Given the description of an element on the screen output the (x, y) to click on. 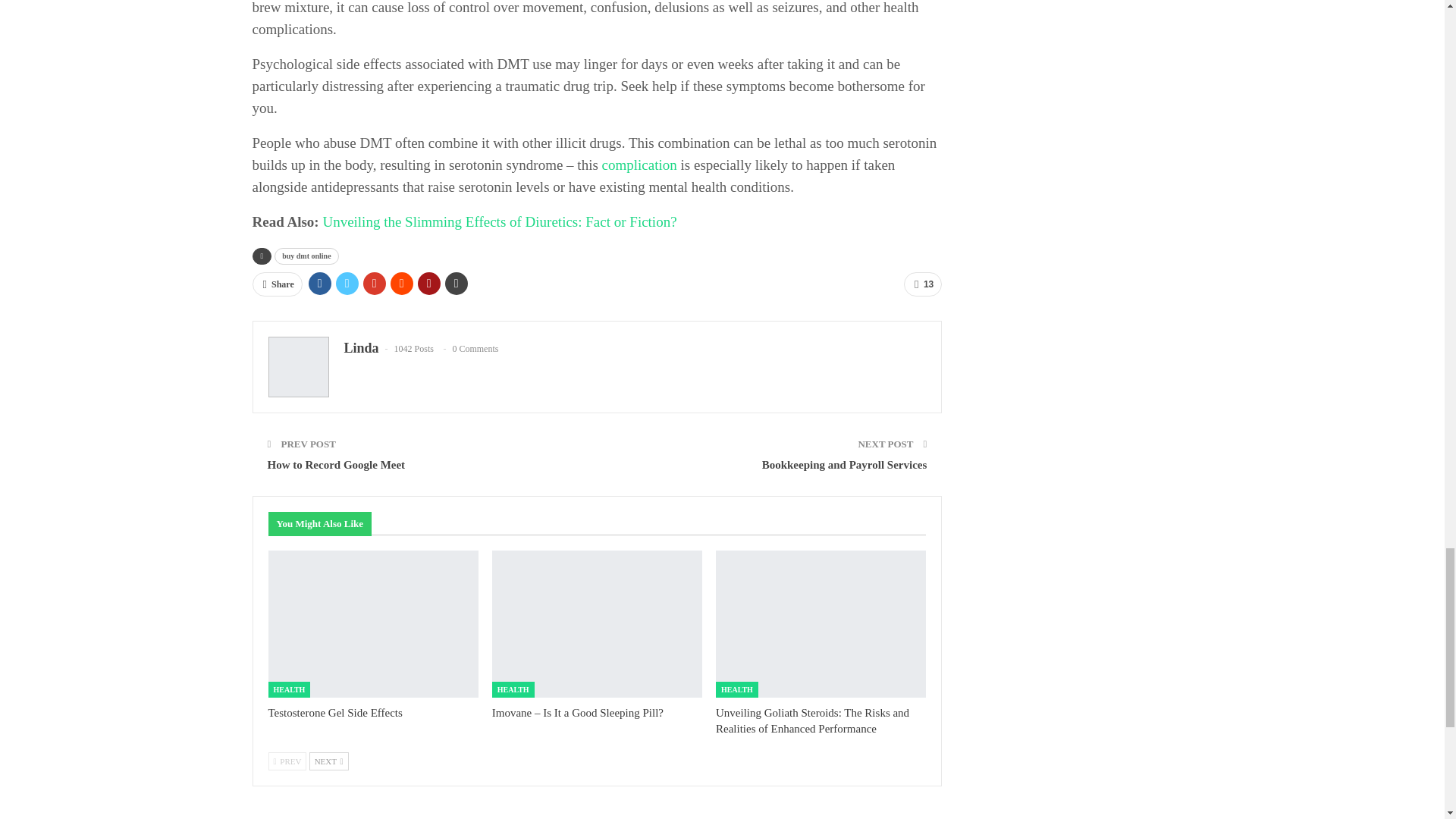
Testosterone Gel Side Effects (335, 712)
Testosterone Gel Side Effects (373, 623)
